Given the description of an element on the screen output the (x, y) to click on. 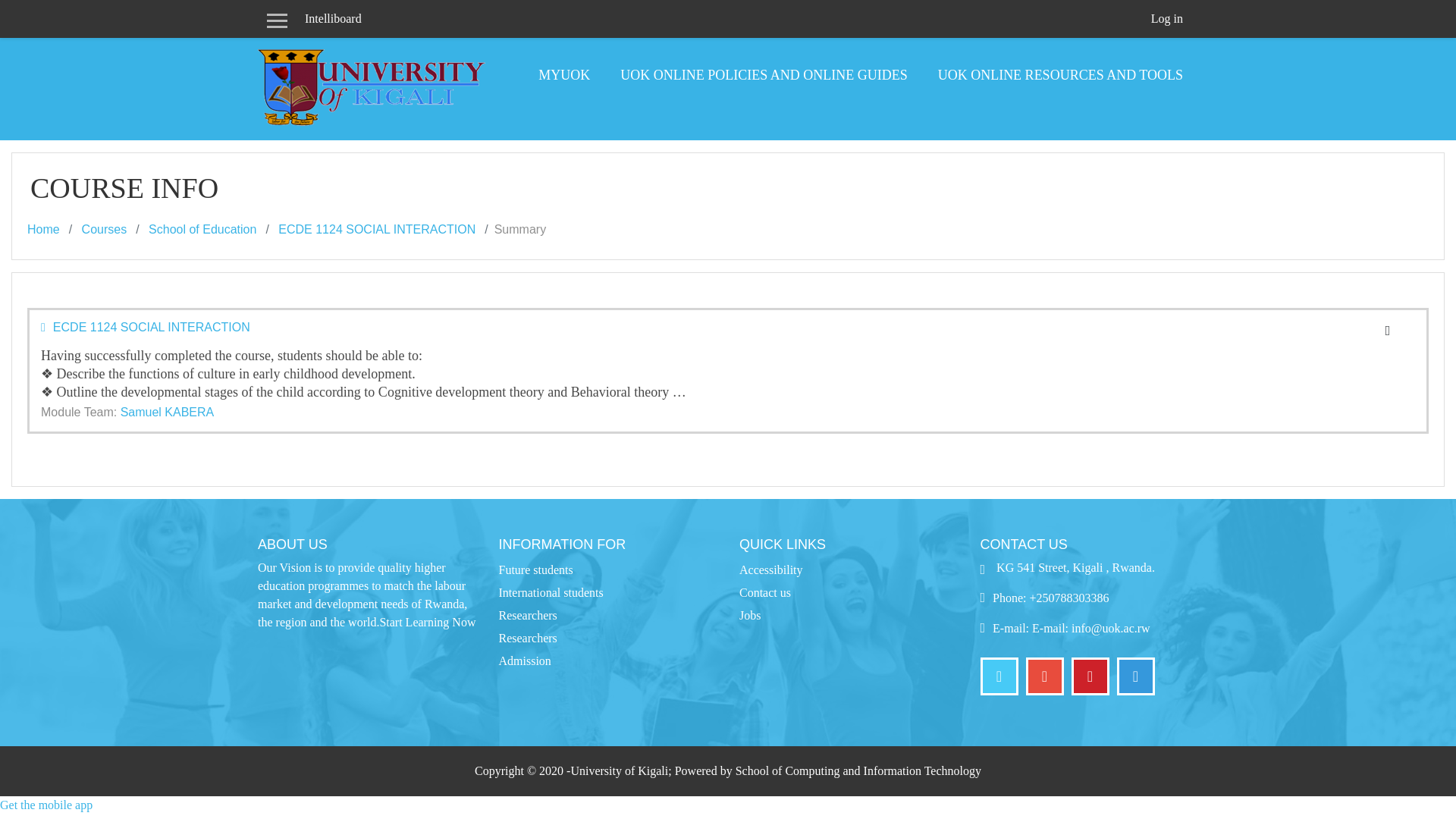
ECDE 1124 SOCIAL INTERACTION (377, 228)
Researchers (528, 615)
Jobs (749, 615)
ECDE 1124 SOCIAL INTERACTION (145, 327)
ECDE 1124 SOCIAL INTERACTION (377, 228)
Samuel KABERA (167, 411)
UOK ONLINE RESOURCES AND TOOLS (1060, 75)
MYUOK (563, 75)
Future students (536, 569)
Researchers (528, 637)
Intelliboard (333, 19)
Self enrolment (1387, 329)
Accessibility (771, 569)
Admission (525, 660)
International students (551, 592)
